Given the description of an element on the screen output the (x, y) to click on. 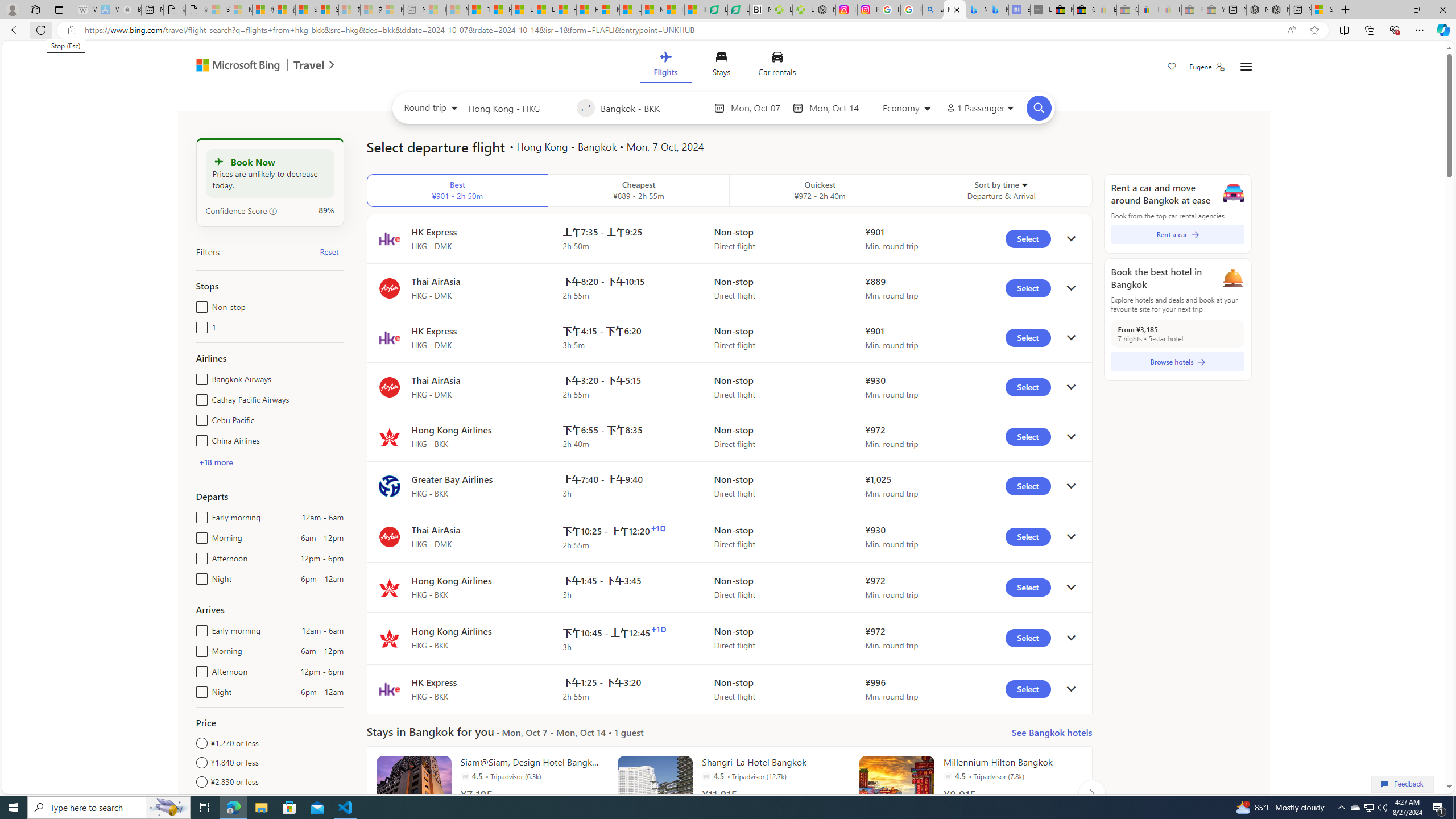
Sign in to your Microsoft account - Sleeping (218, 9)
App bar (728, 29)
Tripadvisor (947, 775)
Threats and offensive language policy | eBay (1149, 9)
1 (199, 325)
Going to? (651, 107)
Drinking tea every day is proven to delay biological aging (543, 9)
Stays (720, 65)
